Given the description of an element on the screen output the (x, y) to click on. 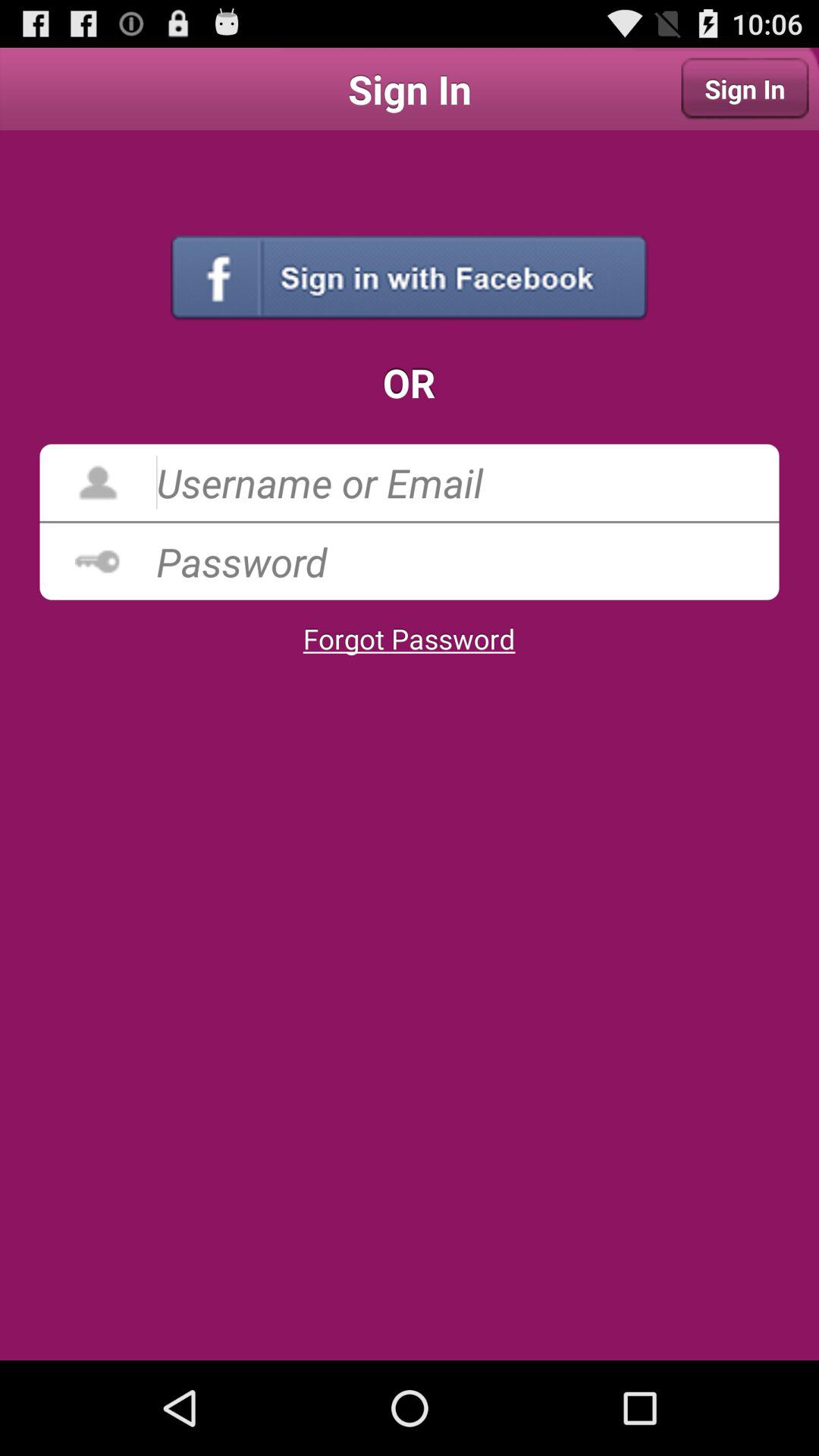
turn on the item above the or (409, 278)
